Given the description of an element on the screen output the (x, y) to click on. 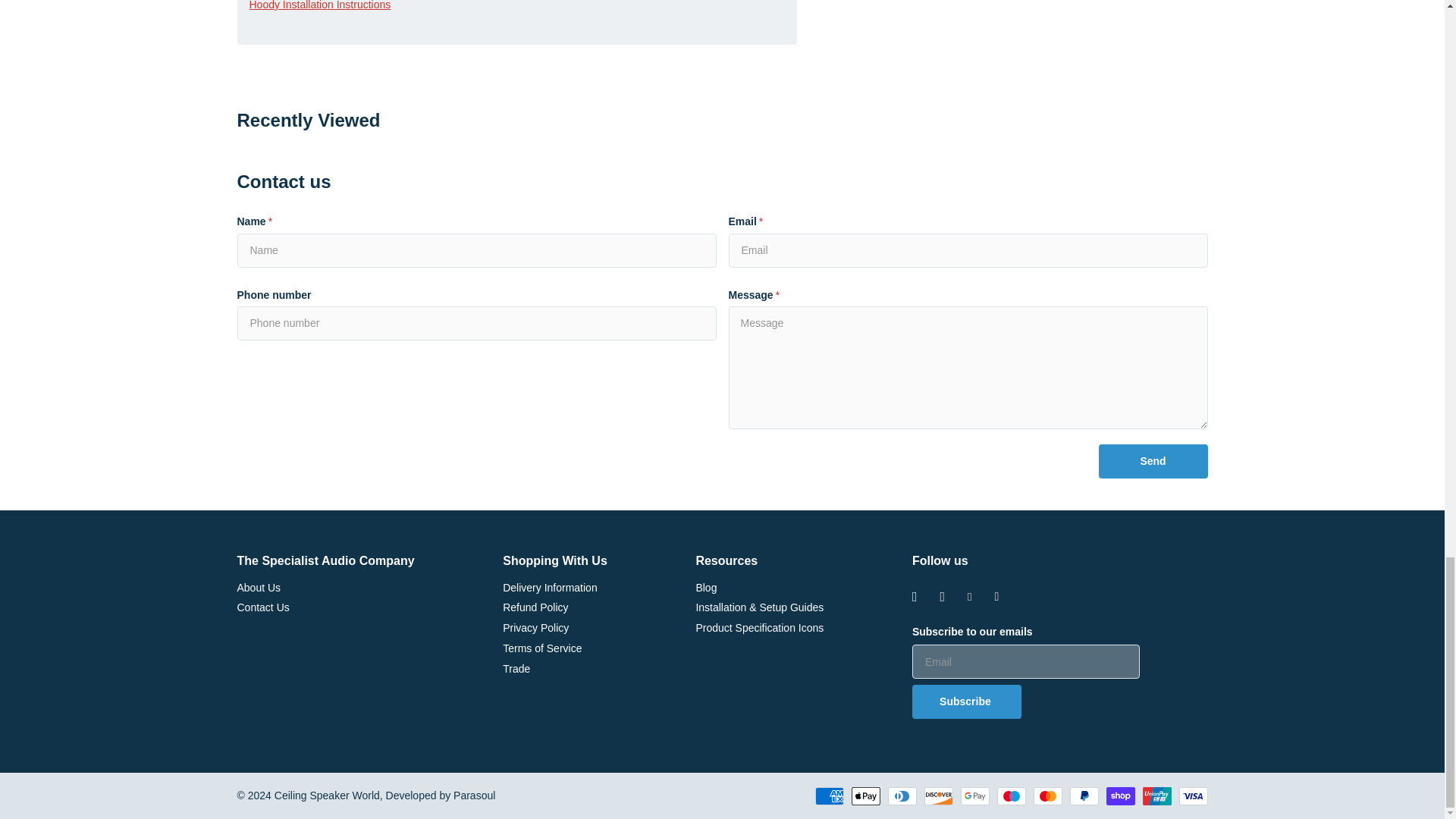
Visa (1192, 796)
Parasoul (473, 795)
Delivery Information (549, 586)
Shop Pay (1119, 796)
About Us (258, 586)
Product Specification Icons (759, 627)
PayPal (1082, 796)
Diners Club (900, 796)
Maestro (1010, 796)
Google Pay (973, 796)
